Given the description of an element on the screen output the (x, y) to click on. 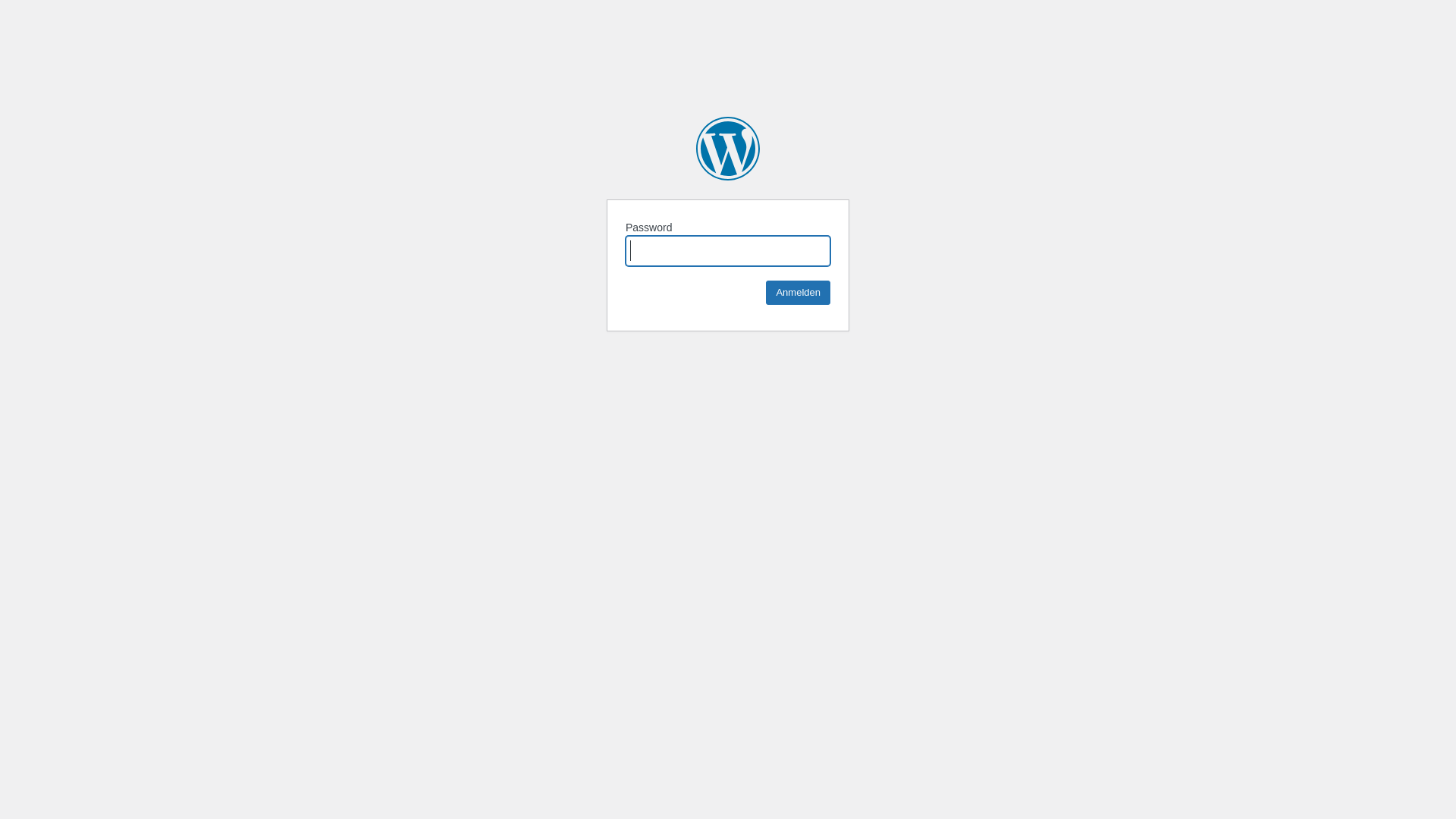
Anmelden Element type: text (797, 292)
Benjamin-Steiner.ch Element type: text (727, 148)
